Given the description of an element on the screen output the (x, y) to click on. 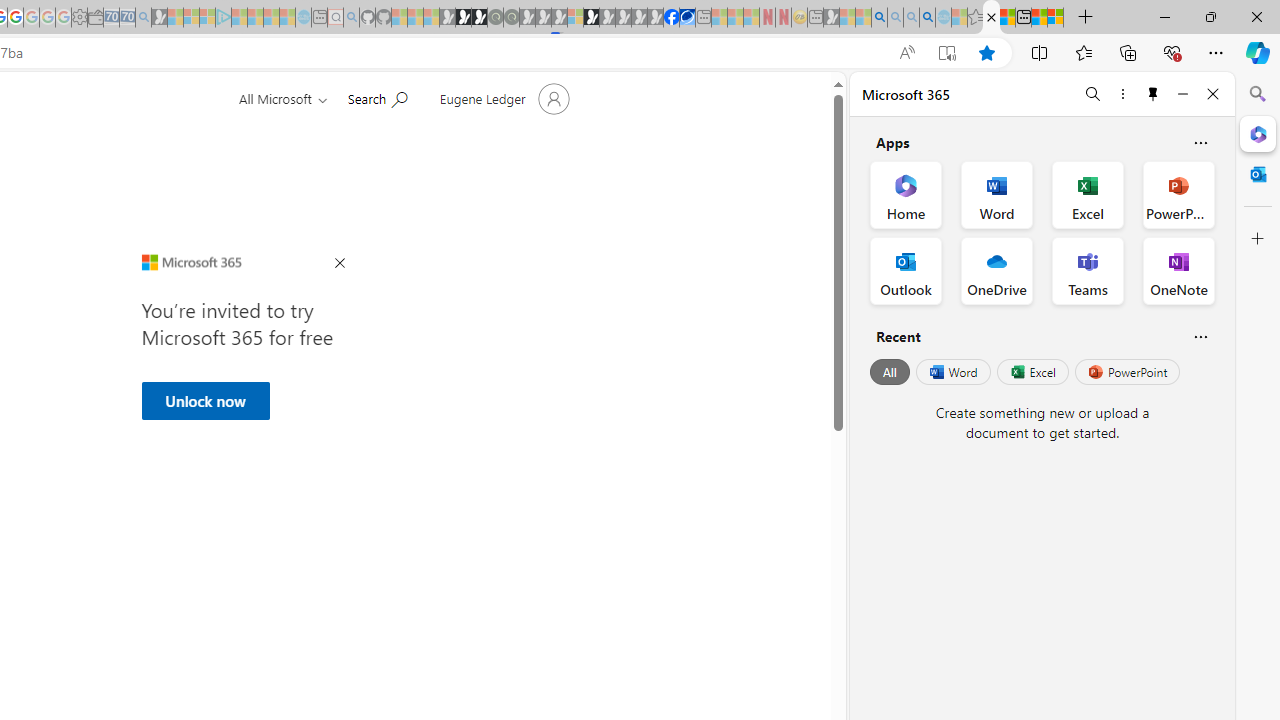
Outlook Office App (906, 270)
Sign in to your account - Sleeping (575, 17)
All (890, 372)
Close Ad (339, 264)
Word Office App (996, 194)
